Given the description of an element on the screen output the (x, y) to click on. 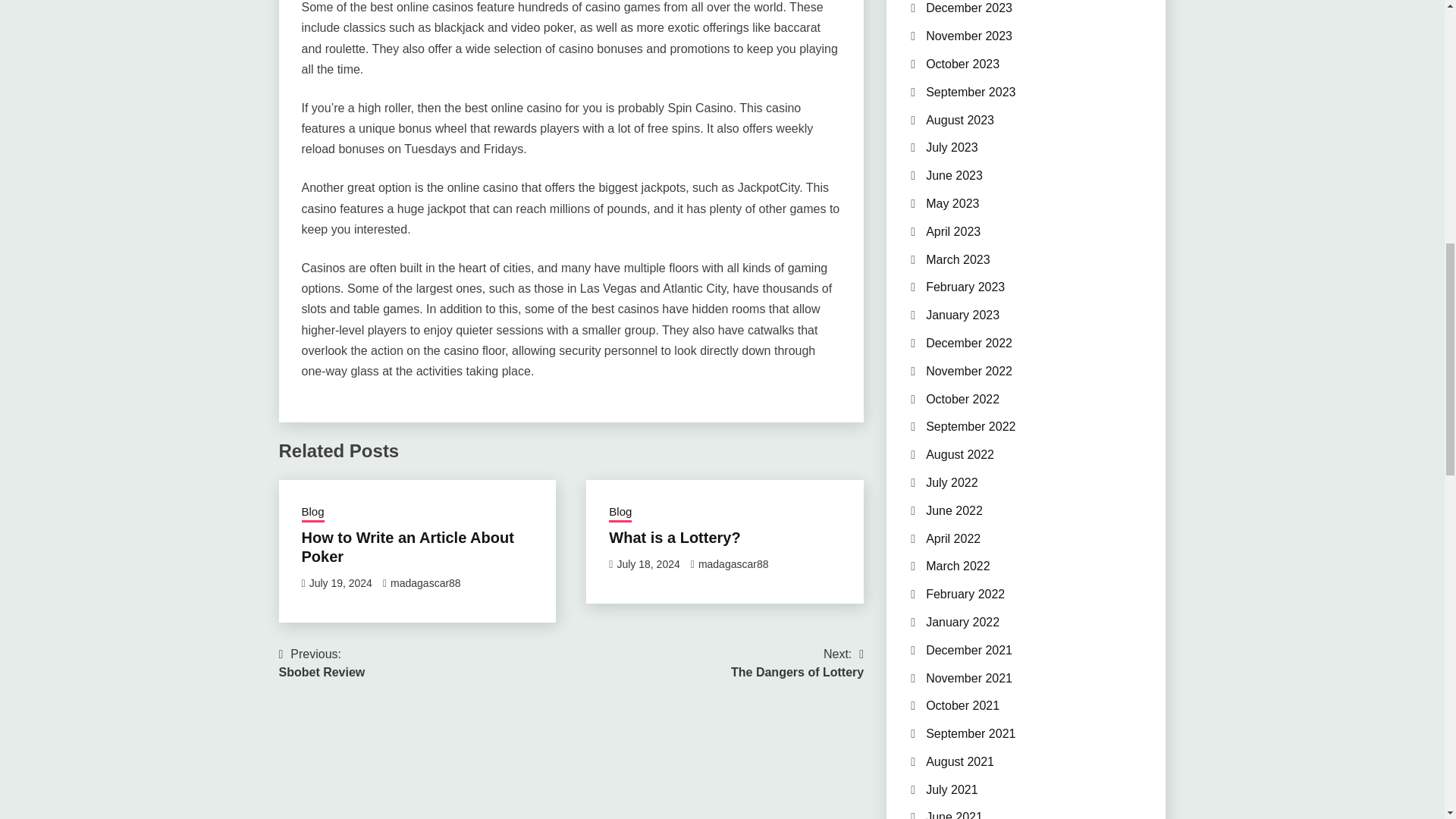
July 19, 2024 (340, 582)
July 18, 2024 (647, 563)
Blog (619, 513)
Blog (312, 513)
madagascar88 (425, 582)
What is a Lottery? (796, 663)
How to Write an Article About Poker (673, 537)
madagascar88 (407, 547)
